Given the description of an element on the screen output the (x, y) to click on. 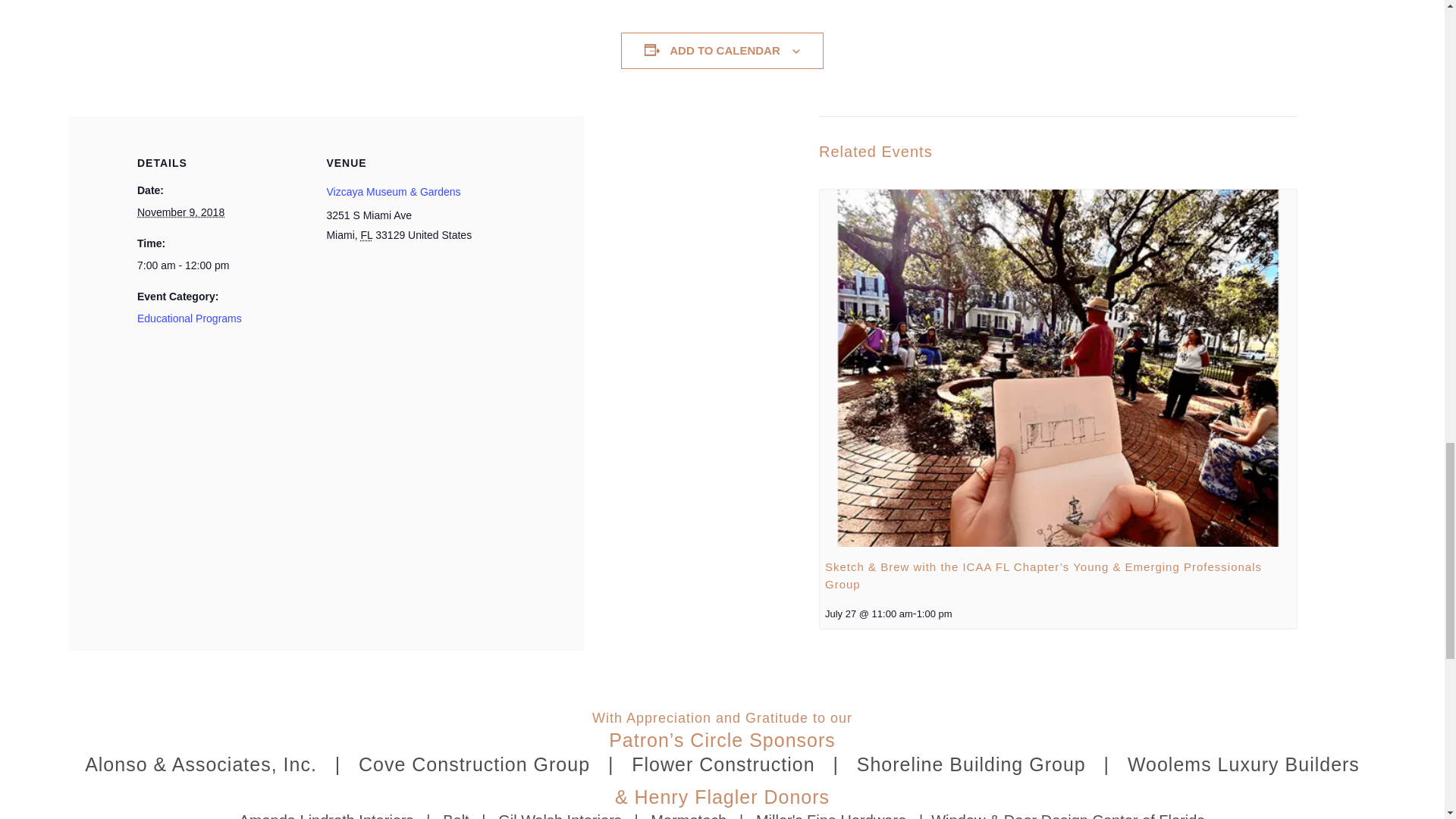
Florida (366, 234)
2018-11-09 (231, 265)
2018-11-09 (180, 212)
